Given the description of an element on the screen output the (x, y) to click on. 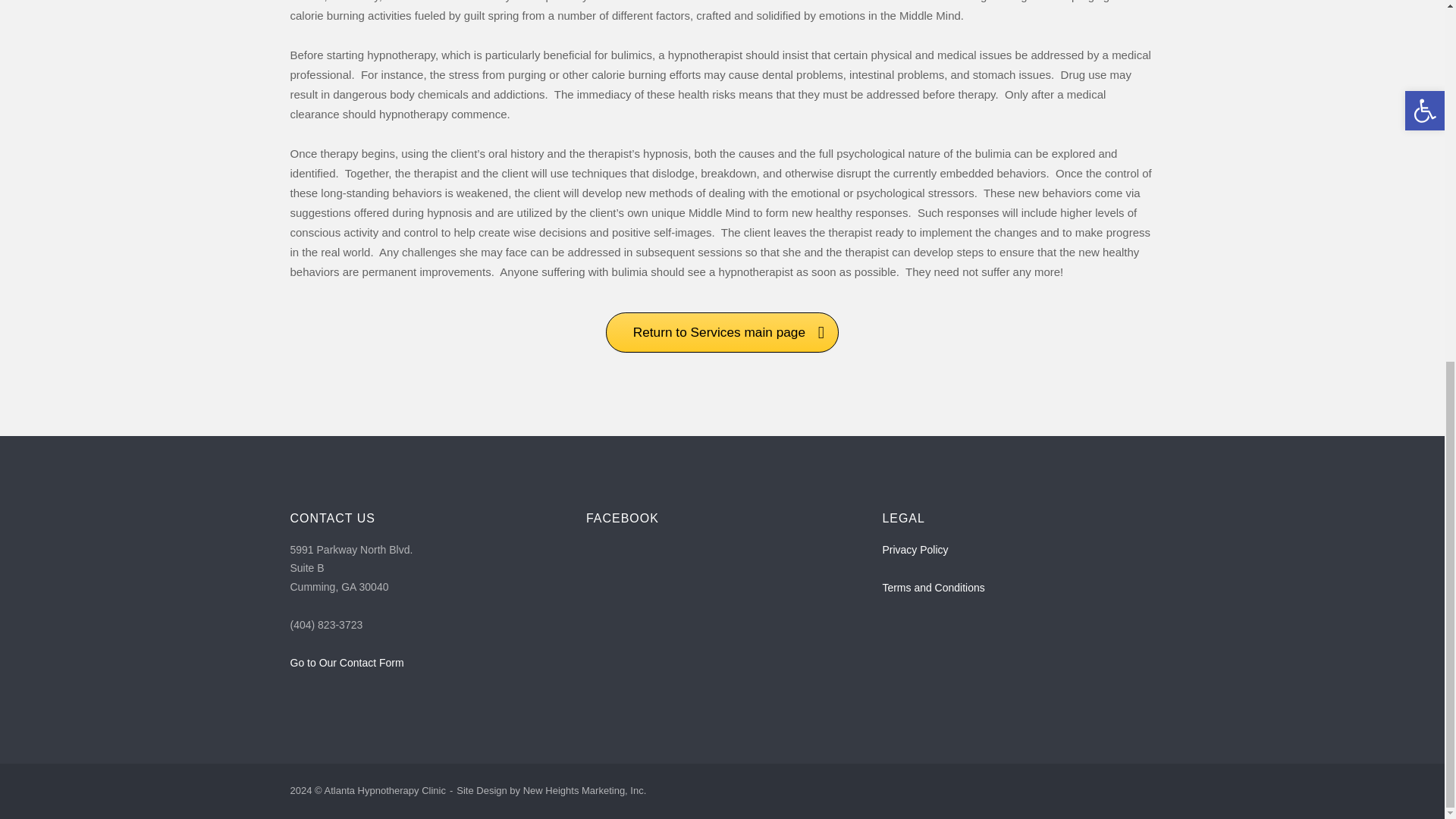
Privacy Policy (914, 549)
Terms and Conditions (933, 587)
Return to Services main page (721, 332)
New Heights Marketing, Inc. (584, 790)
Go to Our Contact Form (346, 662)
